Given the description of an element on the screen output the (x, y) to click on. 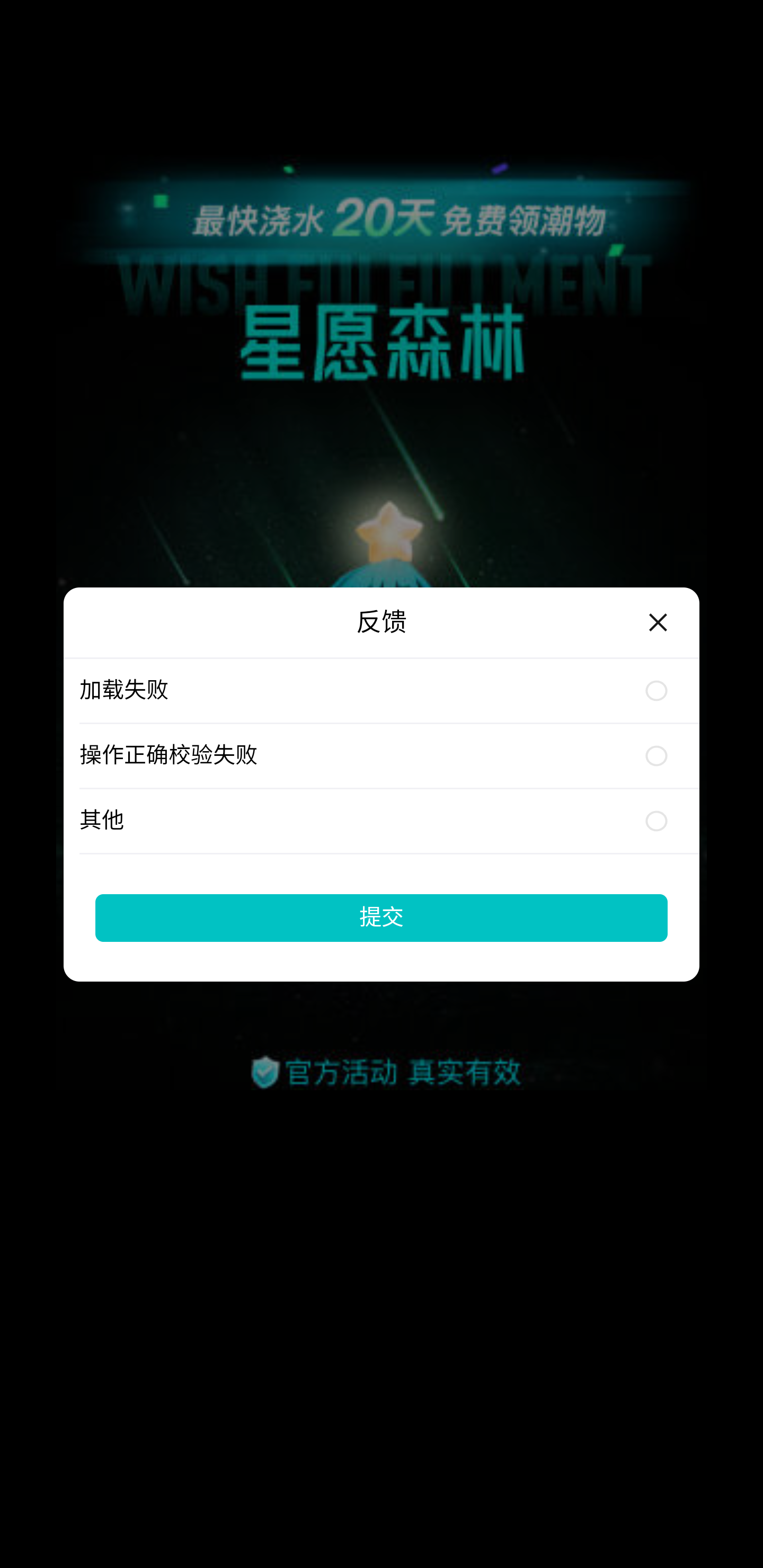
提交 (381, 917)
